Given the description of an element on the screen output the (x, y) to click on. 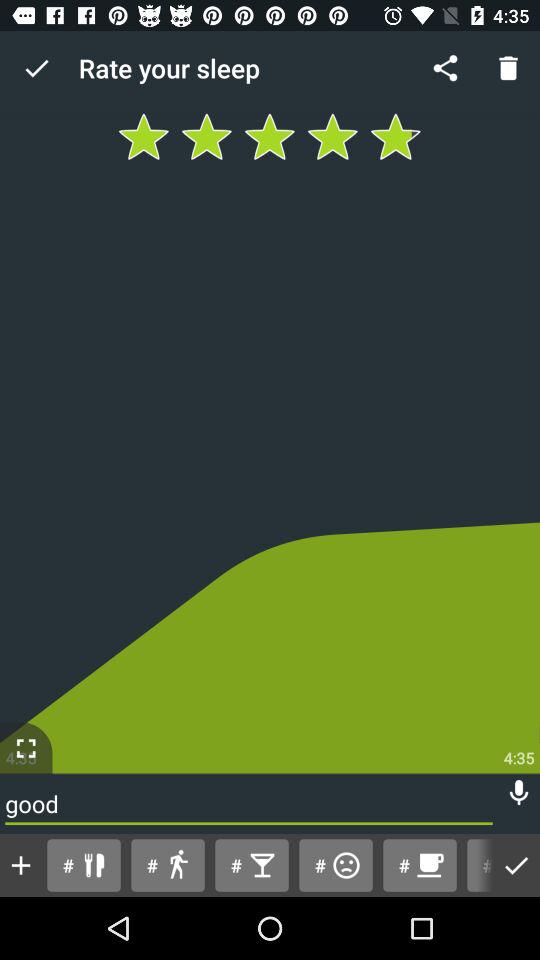
open item below the good (21, 865)
